Given the description of an element on the screen output the (x, y) to click on. 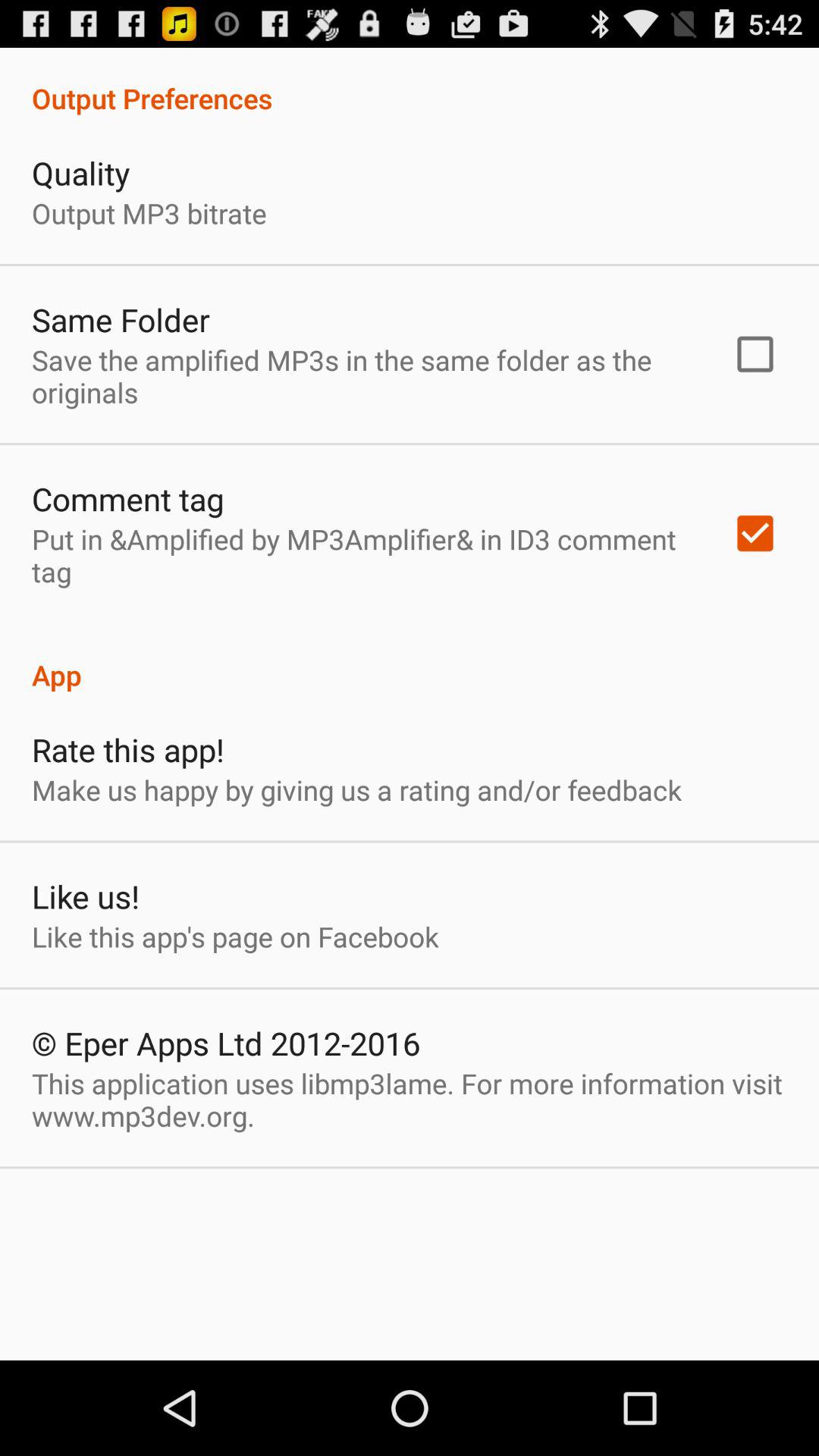
turn on item at the bottom (409, 1099)
